Given the description of an element on the screen output the (x, y) to click on. 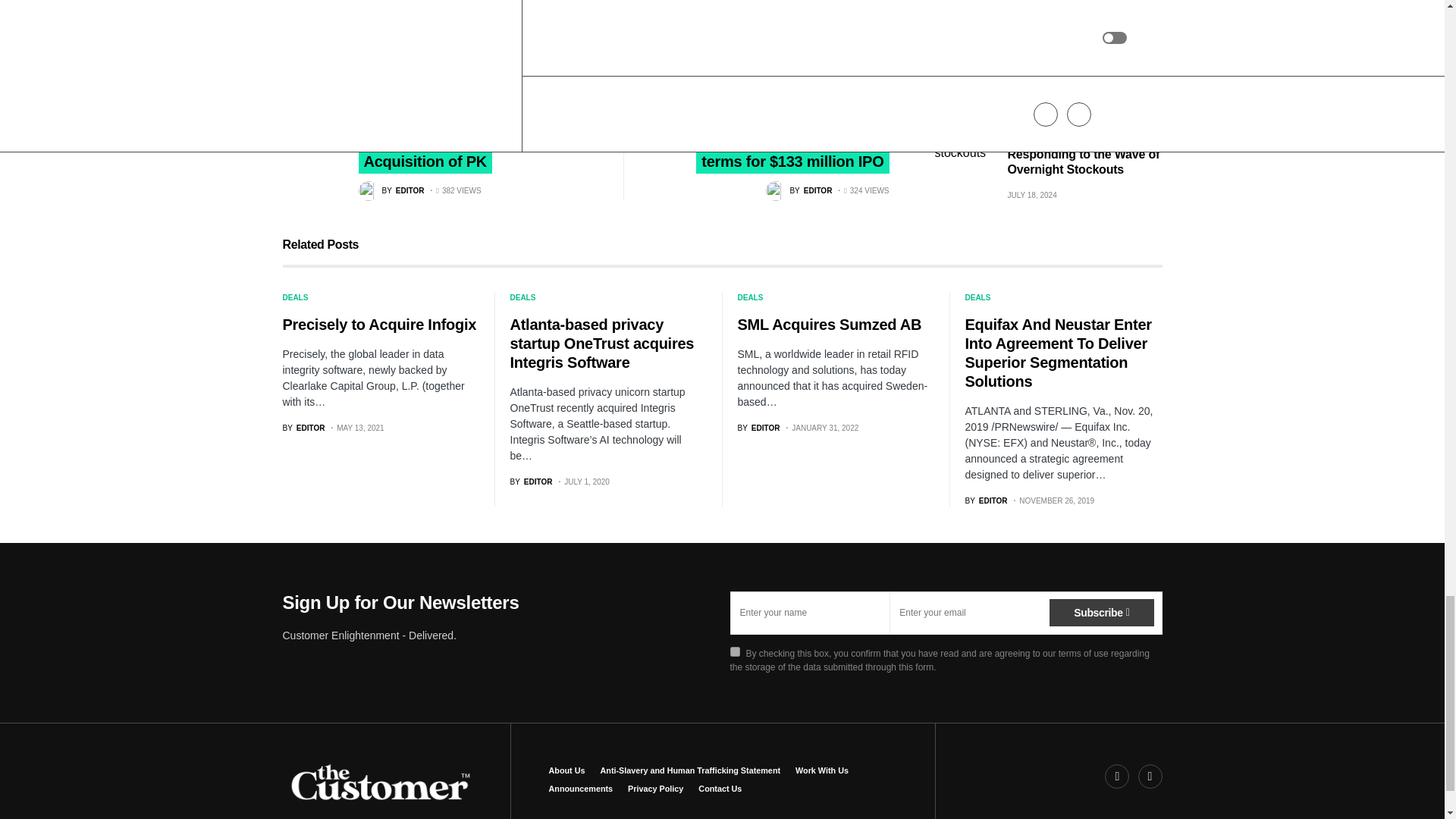
View all posts by Editor (798, 190)
View all posts by Editor (303, 428)
View all posts by Editor (530, 481)
View all posts by Editor (390, 190)
View all posts by Editor (985, 500)
View all posts by Editor (757, 428)
on (734, 651)
